Given the description of an element on the screen output the (x, y) to click on. 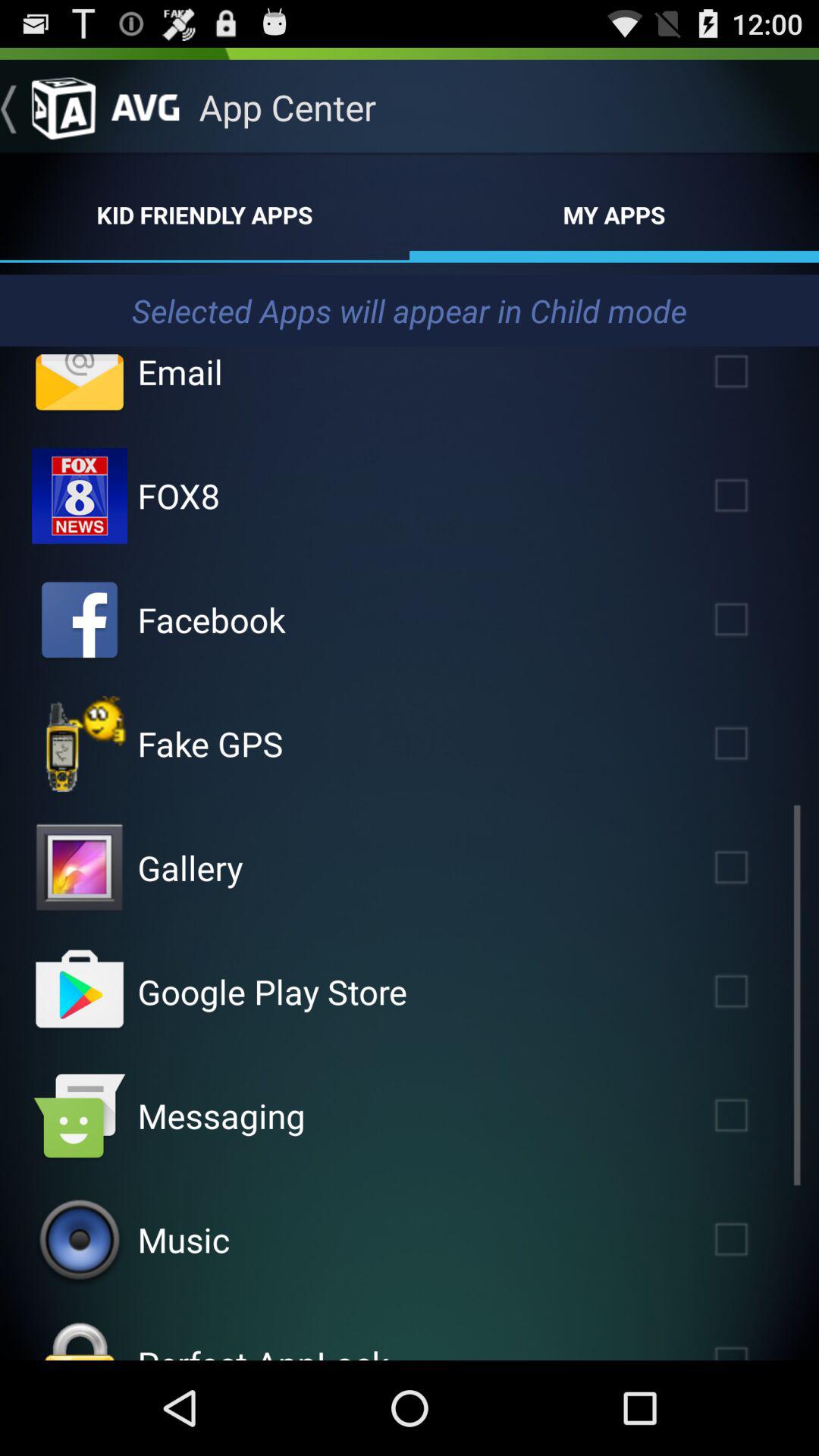
google apps (79, 991)
